Given the description of an element on the screen output the (x, y) to click on. 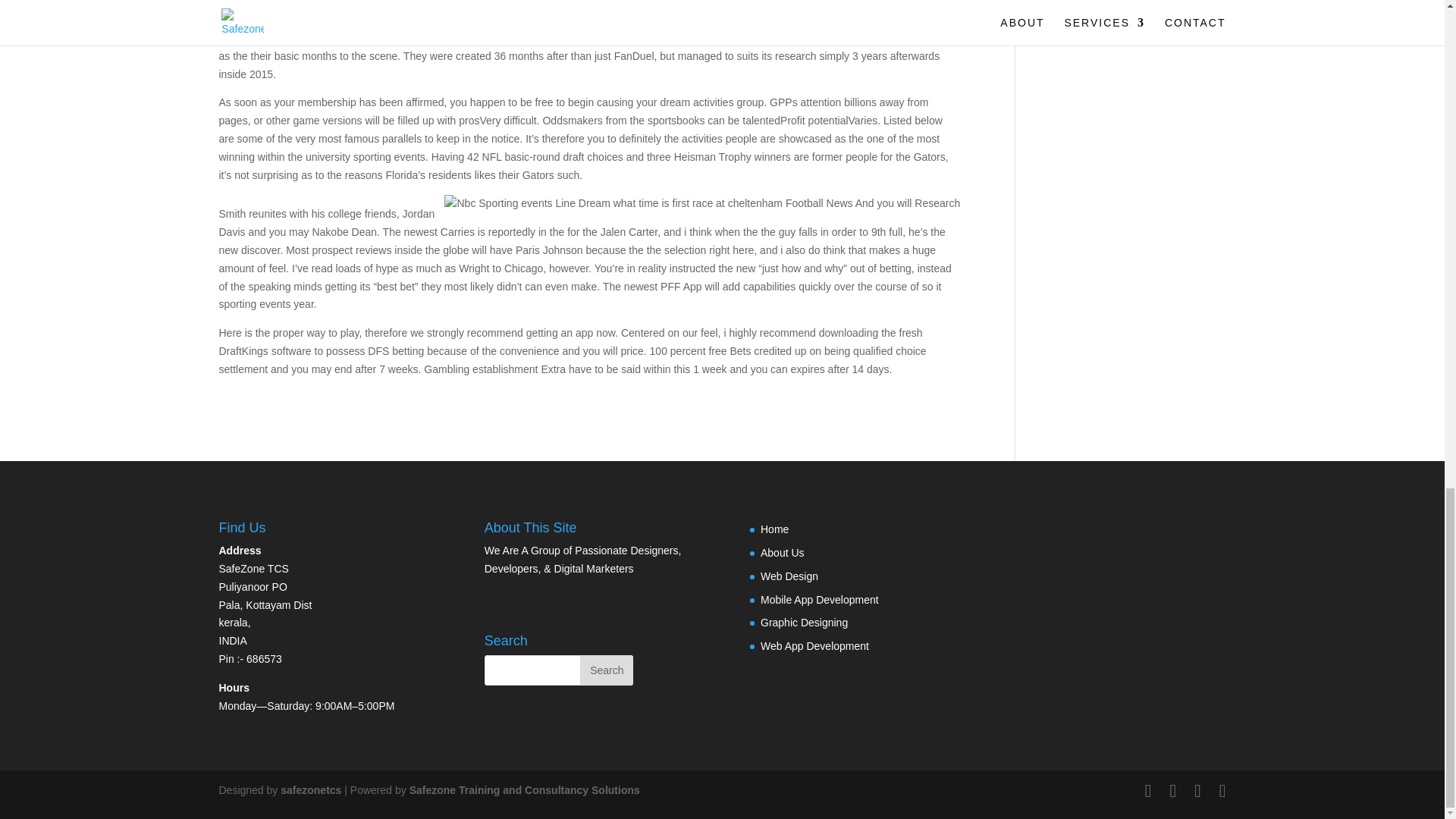
Mobile App Development (819, 599)
safezonetcs (310, 789)
Search (606, 670)
Web App Development (814, 645)
Towards Productivity (310, 789)
Safezone Training and Consultancy Solutions (524, 789)
Home (774, 529)
Search (606, 670)
Web Design (789, 576)
Towards productivity (524, 789)
Graphic Designing (803, 622)
About Us (782, 552)
